Given the description of an element on the screen output the (x, y) to click on. 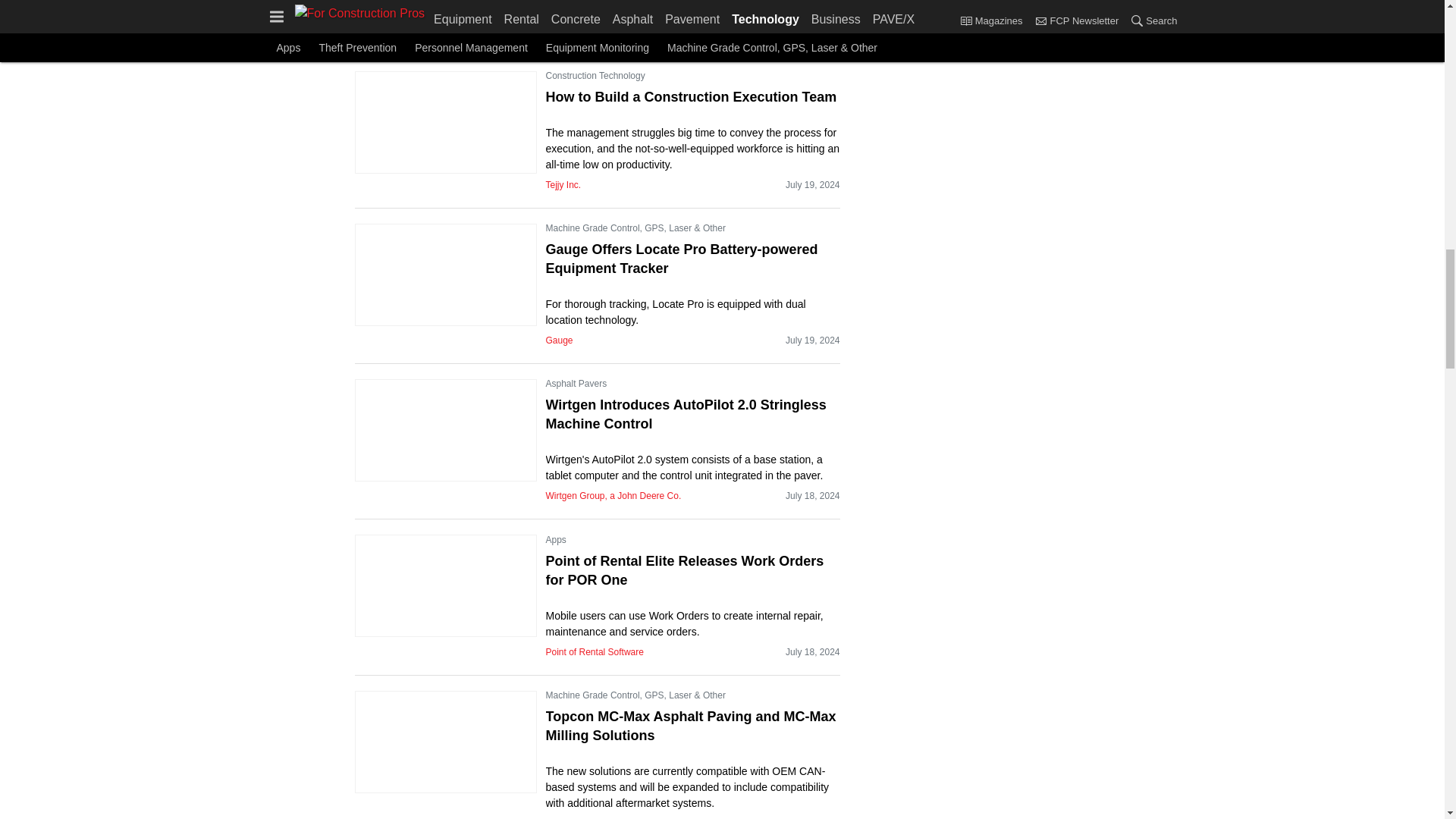
Construction Technology (595, 75)
